Given the description of an element on the screen output the (x, y) to click on. 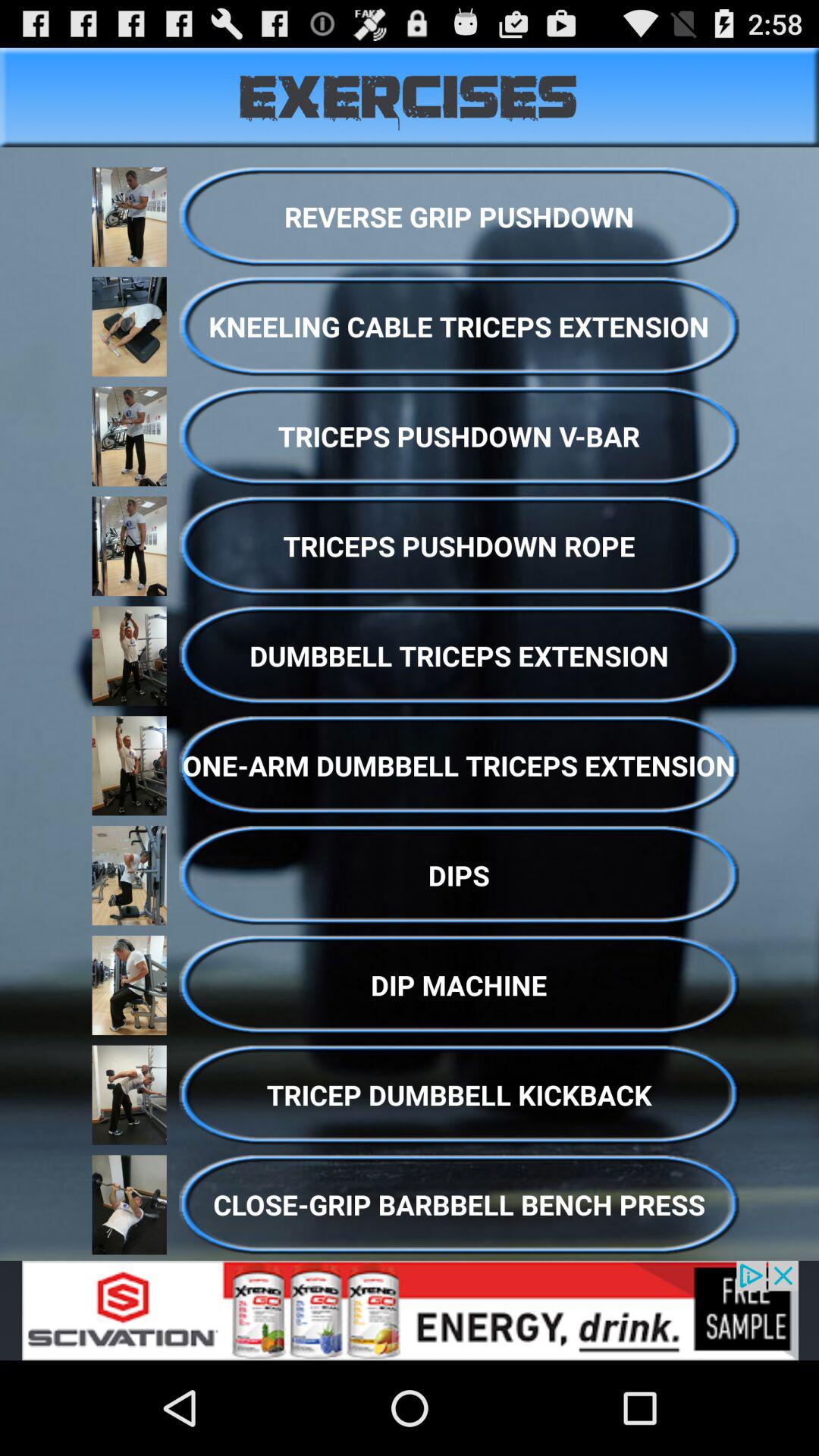
go to addverdisment opption (409, 1310)
